Given the description of an element on the screen output the (x, y) to click on. 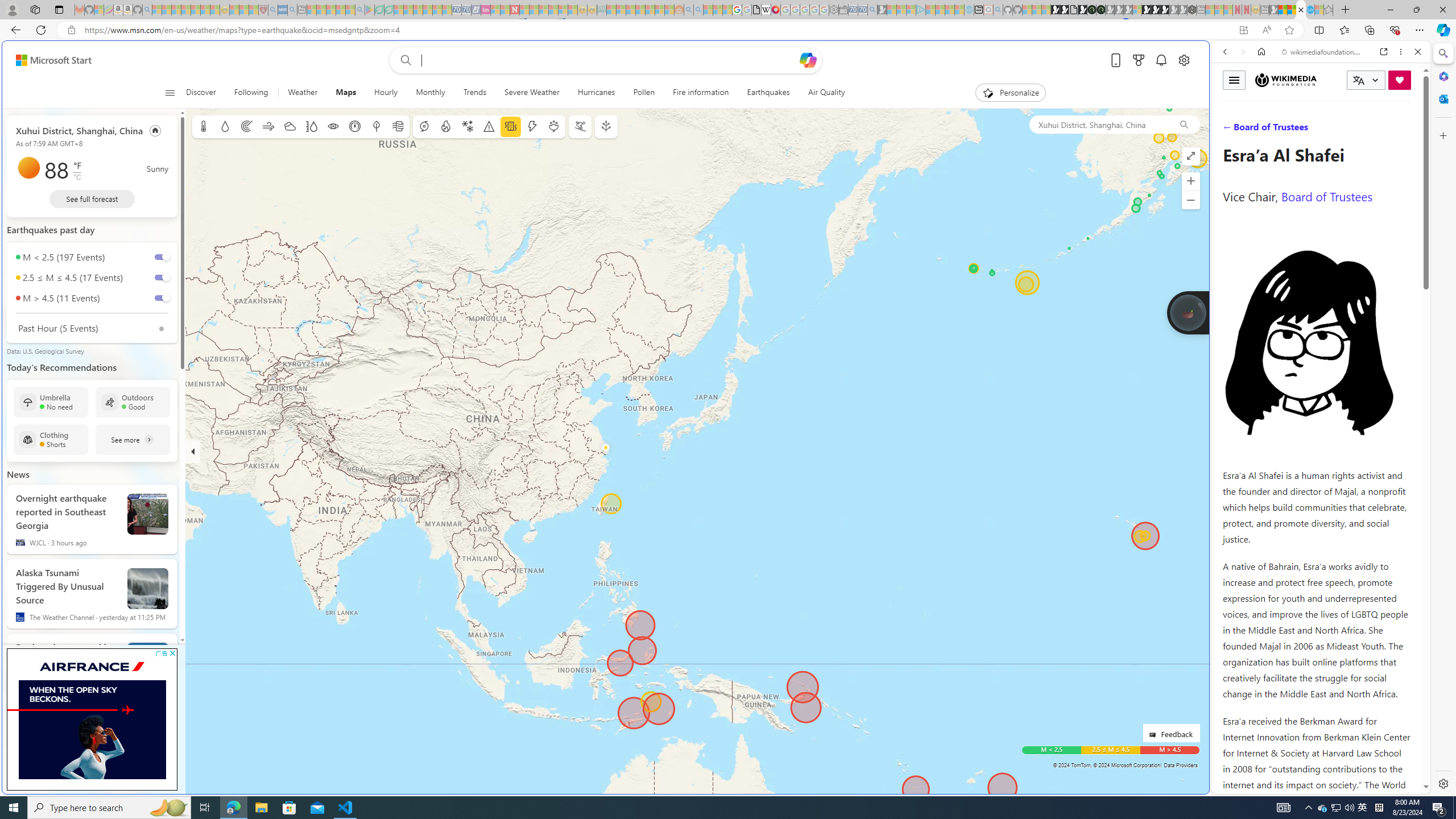
Search or enter web address (922, 108)
Microsoft rewards (1138, 60)
Wiktionary (1315, 380)
Enter full screen mode (1190, 156)
Favorites - Sleeping (1328, 9)
Fire information (445, 126)
